Given the description of an element on the screen output the (x, y) to click on. 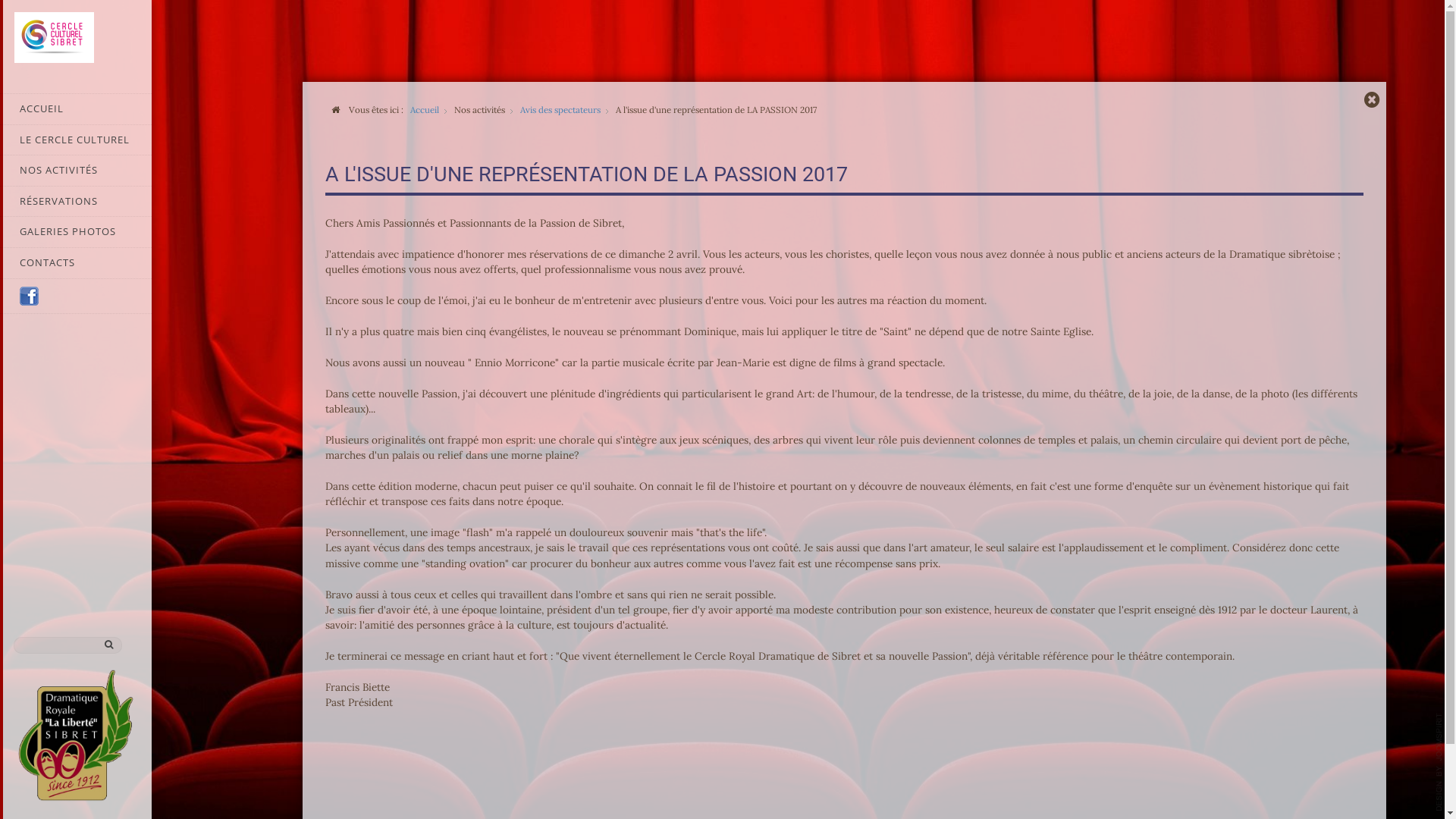
ACCUEIL Element type: text (75, 109)
Accueil Element type: text (424, 109)
template-joomspirit.com Element type: text (1439, 761)
Avis des spectateurs Element type: text (560, 109)
CONTACTS Element type: text (75, 262)
LE CERCLE CULTUREL Element type: text (75, 140)
GALERIES PHOTOS Element type: text (75, 231)
